Given the description of an element on the screen output the (x, y) to click on. 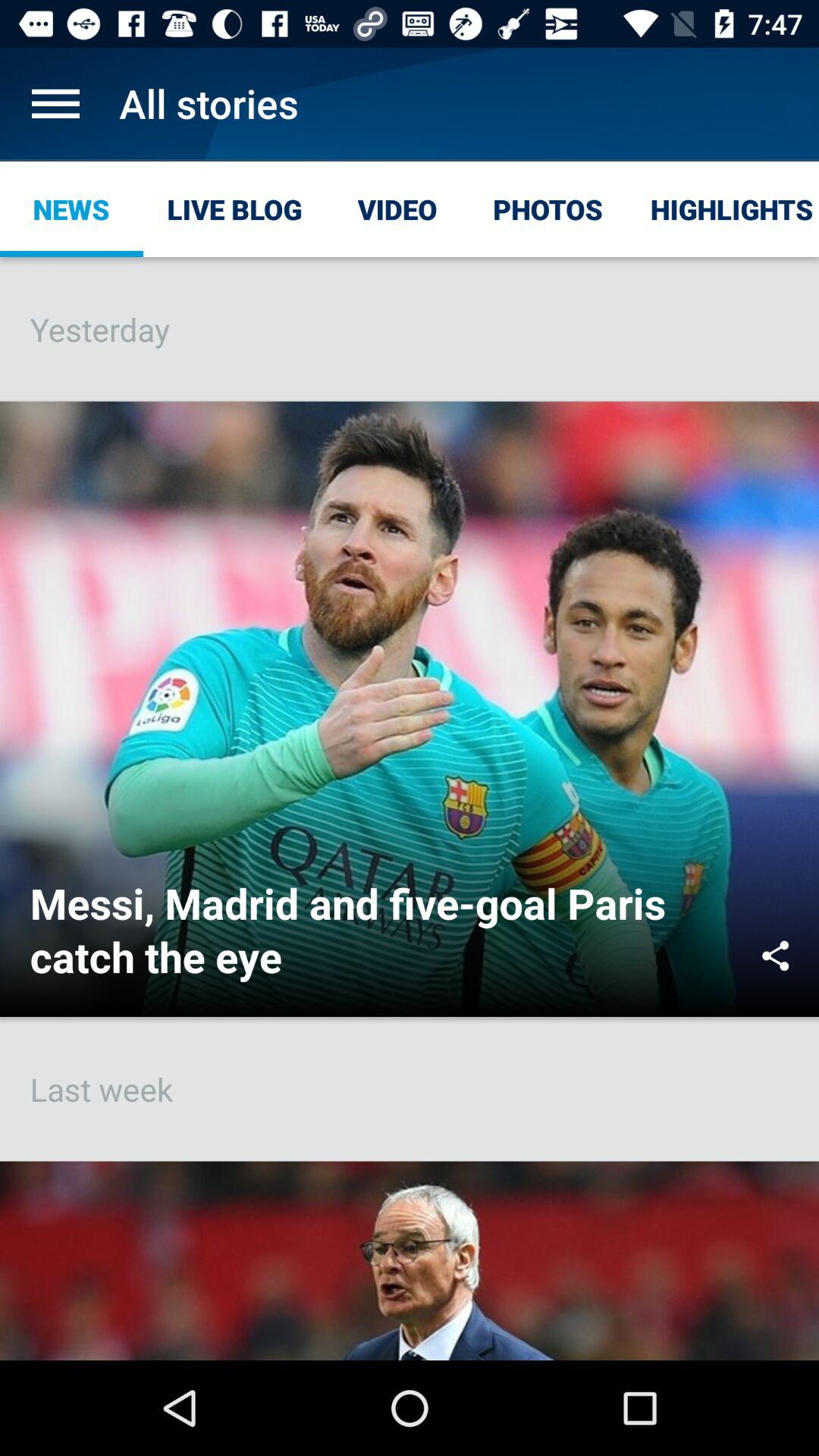
open menu (55, 103)
